Given the description of an element on the screen output the (x, y) to click on. 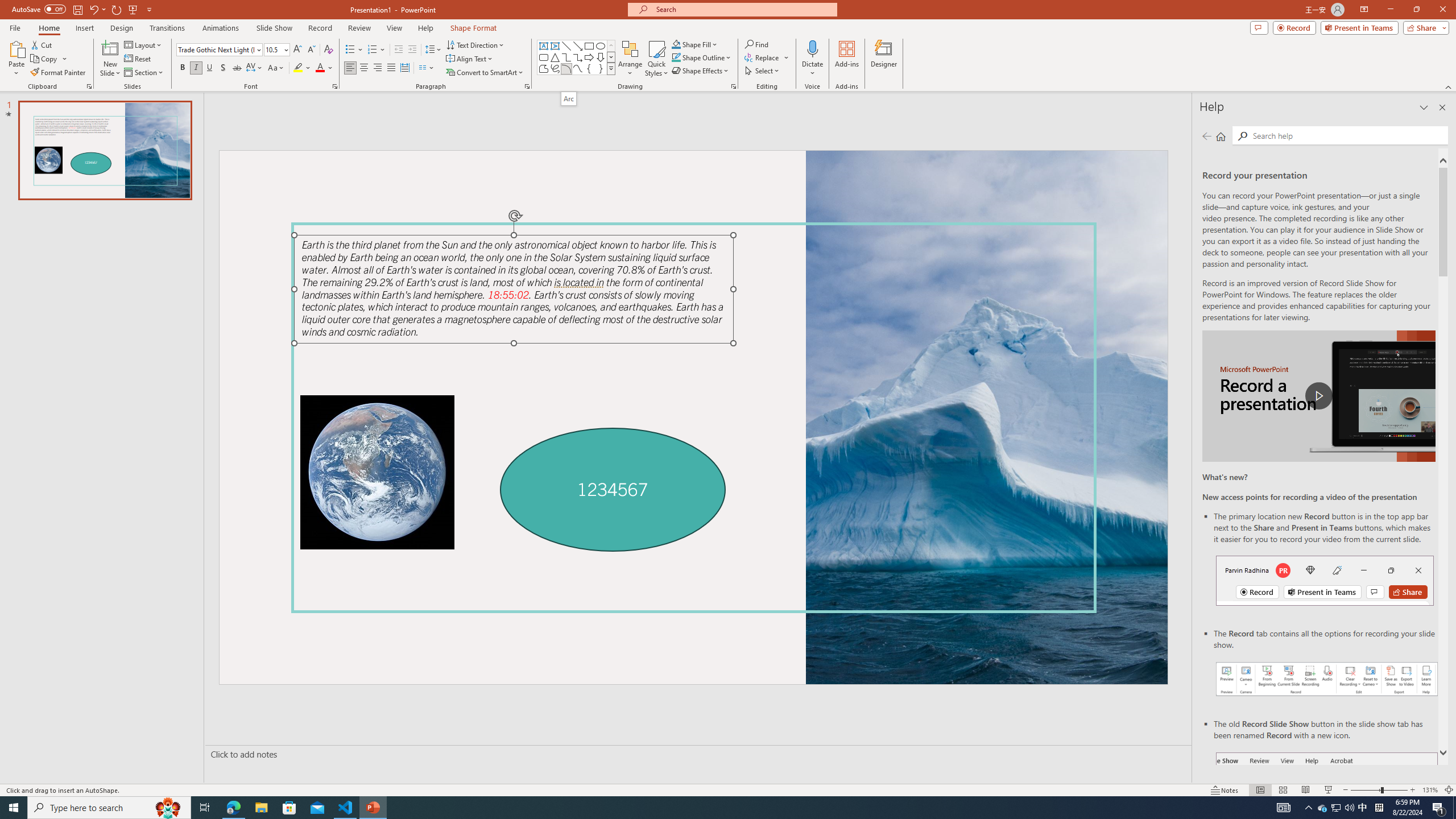
Previous page (1206, 136)
